Given the description of an element on the screen output the (x, y) to click on. 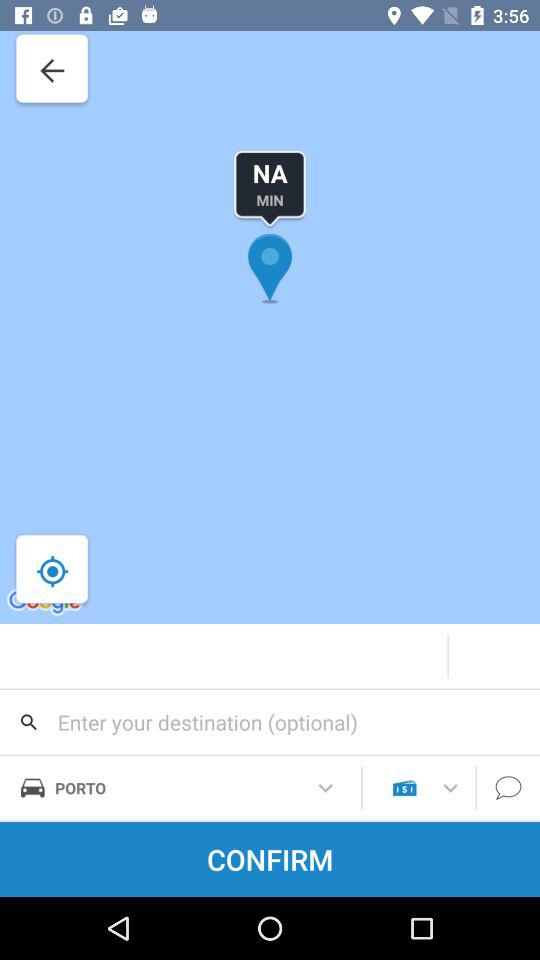
enter your destination (270, 722)
